Given the description of an element on the screen output the (x, y) to click on. 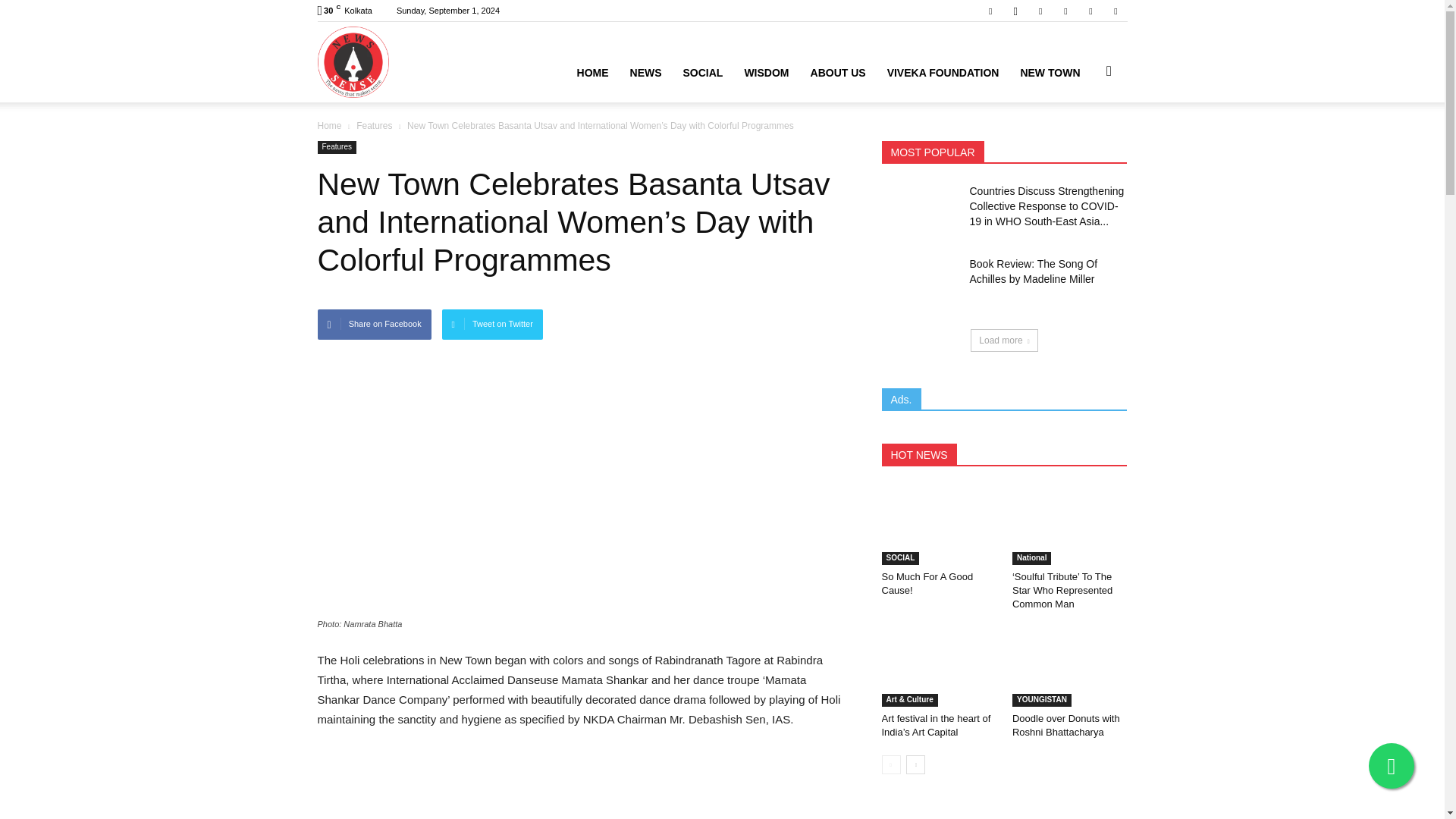
Facebook (989, 10)
RSS (1065, 10)
Youtube (1114, 10)
Instagram (1015, 10)
Twitter (1090, 10)
Linkedin (1040, 10)
